Given the description of an element on the screen output the (x, y) to click on. 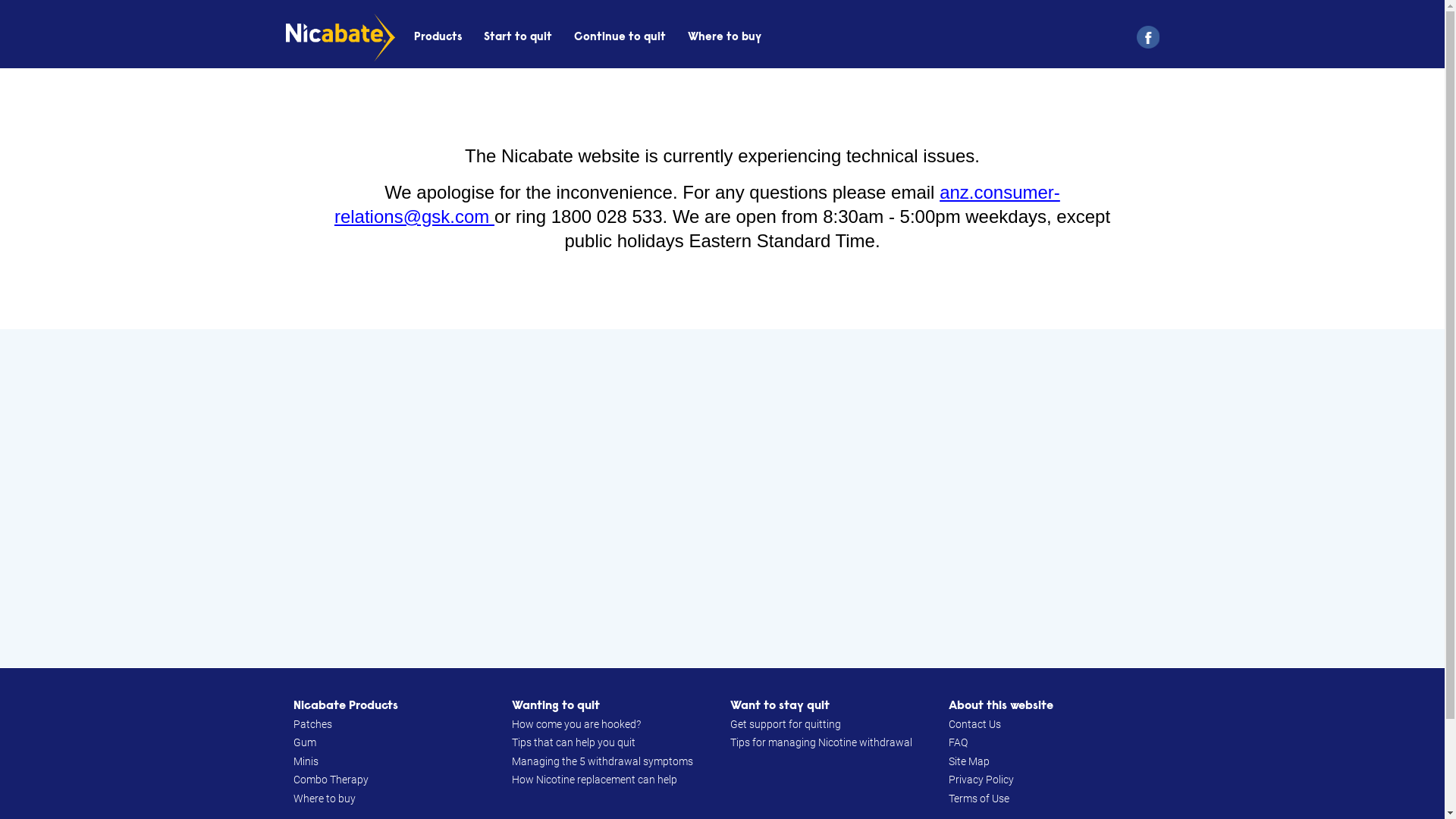
Combo Therapy Element type: text (329, 779)
Patches Element type: text (311, 724)
Want to stay quit Element type: text (778, 705)
start to quit Element type: text (517, 37)
Tips that can help you quit Element type: text (572, 742)
products Element type: text (437, 37)
Nicabate Products Element type: text (344, 705)
FAQ Element type: text (956, 742)
Managing the 5 withdrawal symptoms Element type: text (601, 761)
Where to buy Element type: text (323, 798)
anz.consumer-relations@gsk.com Element type: text (697, 204)
Get support for quitting Element type: text (784, 724)
Wanting to quit Element type: text (555, 705)
Privacy Policy Element type: text (980, 779)
  Element type: text (1141, 36)
Tips for managing Nicotine withdrawal Element type: text (820, 742)
Terms of Use Element type: text (977, 798)
How come you are hooked? Element type: text (575, 724)
Minis Element type: text (304, 761)
continue to quit Element type: text (619, 37)
where to buy Element type: text (724, 37)
How Nicotine replacement can help Element type: text (593, 779)
Contact Us Element type: text (973, 724)
Site Map Element type: text (967, 761)
Gum Element type: text (303, 742)
